Given the description of an element on the screen output the (x, y) to click on. 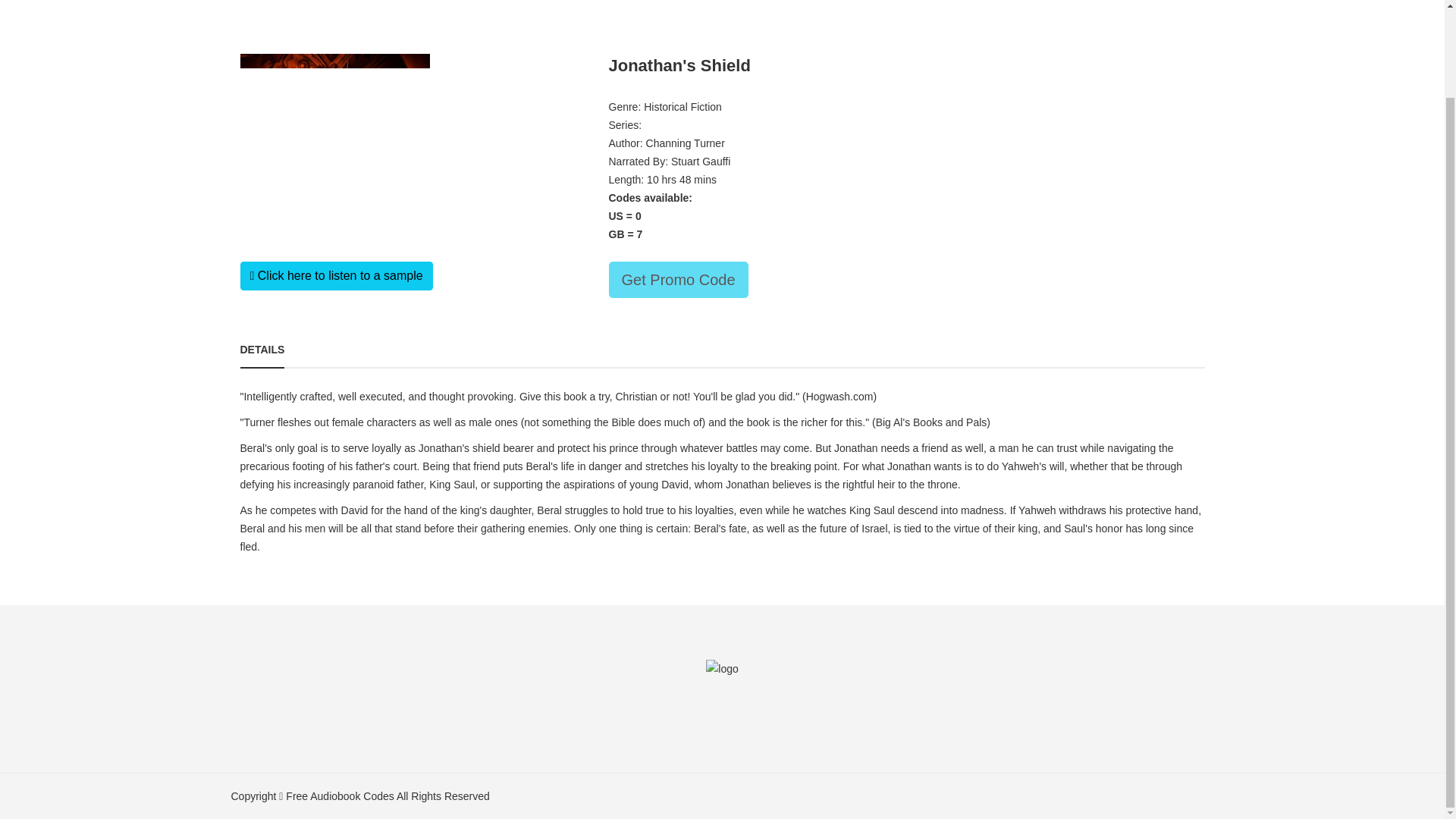
Channing Turner (685, 143)
Click here to listen to a sample (336, 275)
Historical Fiction (682, 106)
Stuart Gauffi (700, 161)
Free Audiobook Codes (339, 796)
DETAILS (261, 349)
Get Promo Code (678, 279)
